Given the description of an element on the screen output the (x, y) to click on. 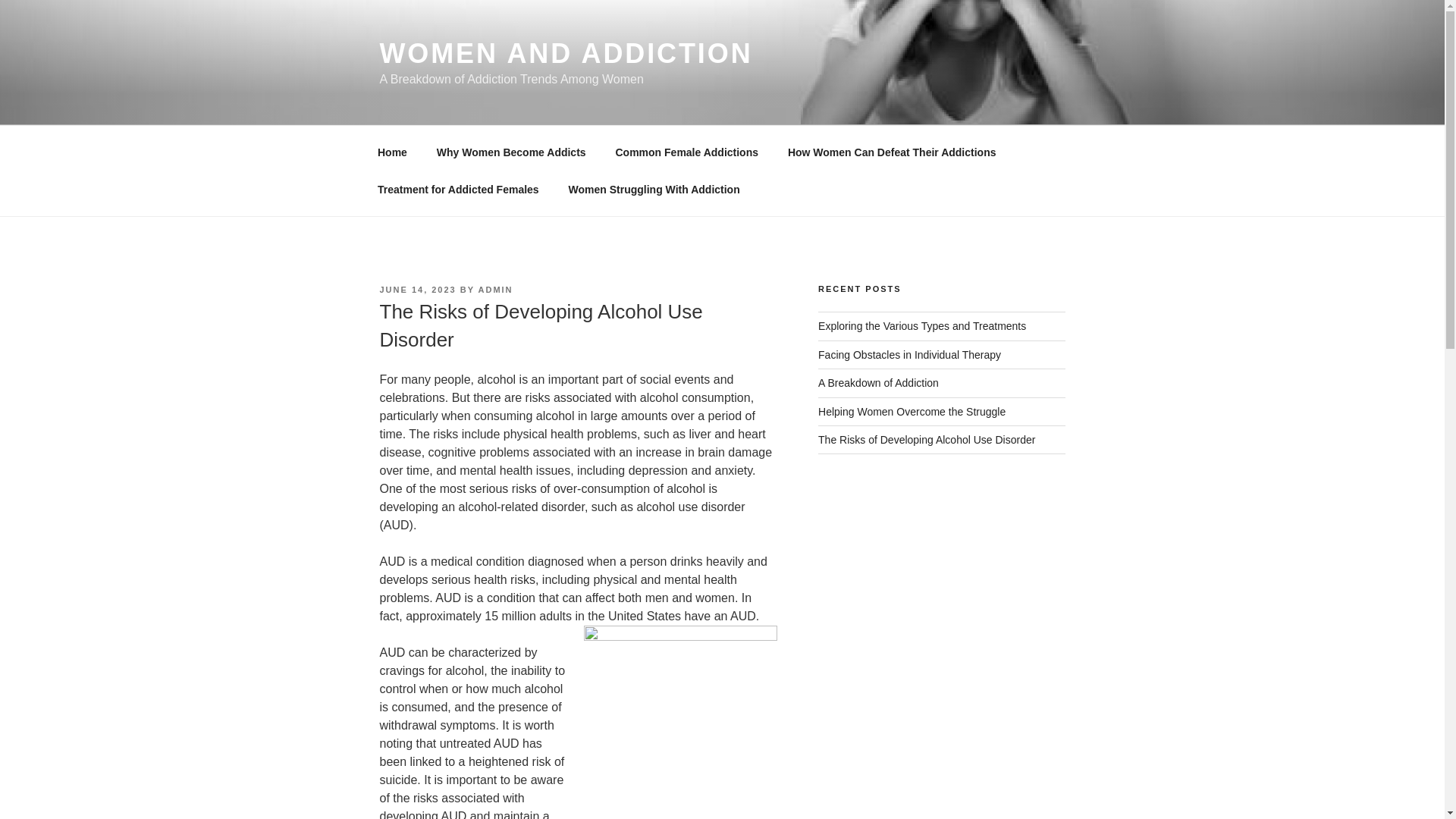
How Women Can Defeat Their Addictions (891, 151)
WOMEN AND ADDICTION (565, 52)
ADMIN (496, 289)
JUNE 14, 2023 (416, 289)
Helping Women Overcome the Struggle (912, 411)
Facing Obstacles in Individual Therapy (909, 354)
Common Female Addictions (686, 151)
A Breakdown of Addiction (878, 382)
Exploring the Various Types and Treatments (922, 326)
Treatment for Addicted Females (457, 189)
Women Struggling With Addiction (653, 189)
Why Women Become Addicts (510, 151)
Home (392, 151)
The Risks of Developing Alcohol Use Disorder (926, 439)
